Given the description of an element on the screen output the (x, y) to click on. 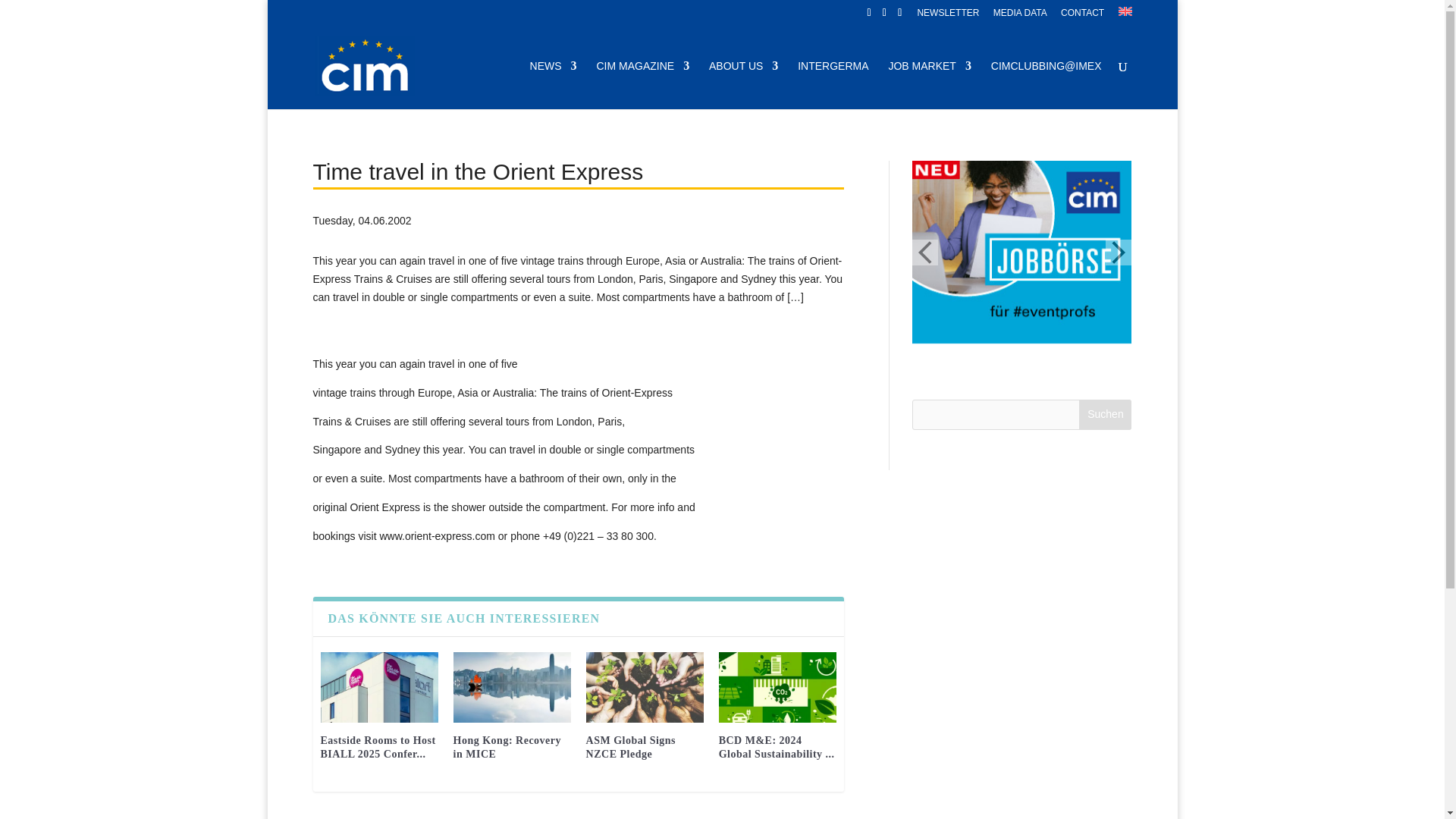
ABOUT US (743, 84)
CIM MAGAZINE (641, 84)
MEDIA DATA (1019, 16)
Eastside Rooms to Host BIALL 2025 Conference in Birmingham (379, 686)
ASM Global Signs NZCE Pledge (644, 686)
Eastside Rooms to Host BIALL 2025 Confer... (377, 747)
CONTACT (1082, 16)
Hong Kong: Recovery in MICE (506, 747)
NEWSLETTER (947, 16)
Hong Kong: Recovery in MICE (511, 686)
